Given the description of an element on the screen output the (x, y) to click on. 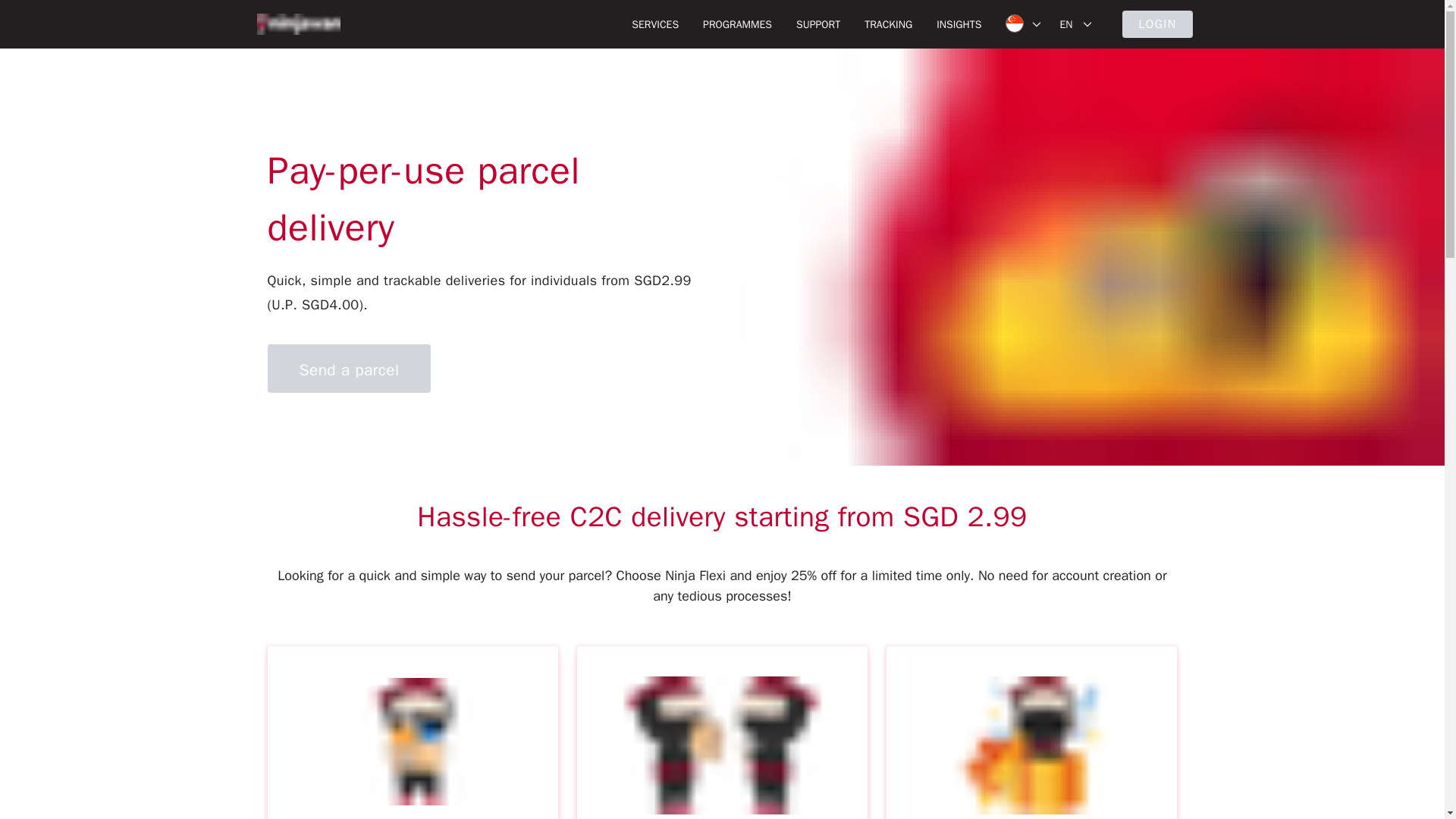
LOGIN (1157, 23)
Send a parcel (351, 370)
LOGIN (1157, 23)
PROGRAMMES (737, 24)
SUPPORT (817, 24)
EN (1075, 24)
TRACKING (887, 24)
SERVICES (655, 24)
INSIGHTS (958, 24)
Send a parcel (348, 368)
